Given the description of an element on the screen output the (x, y) to click on. 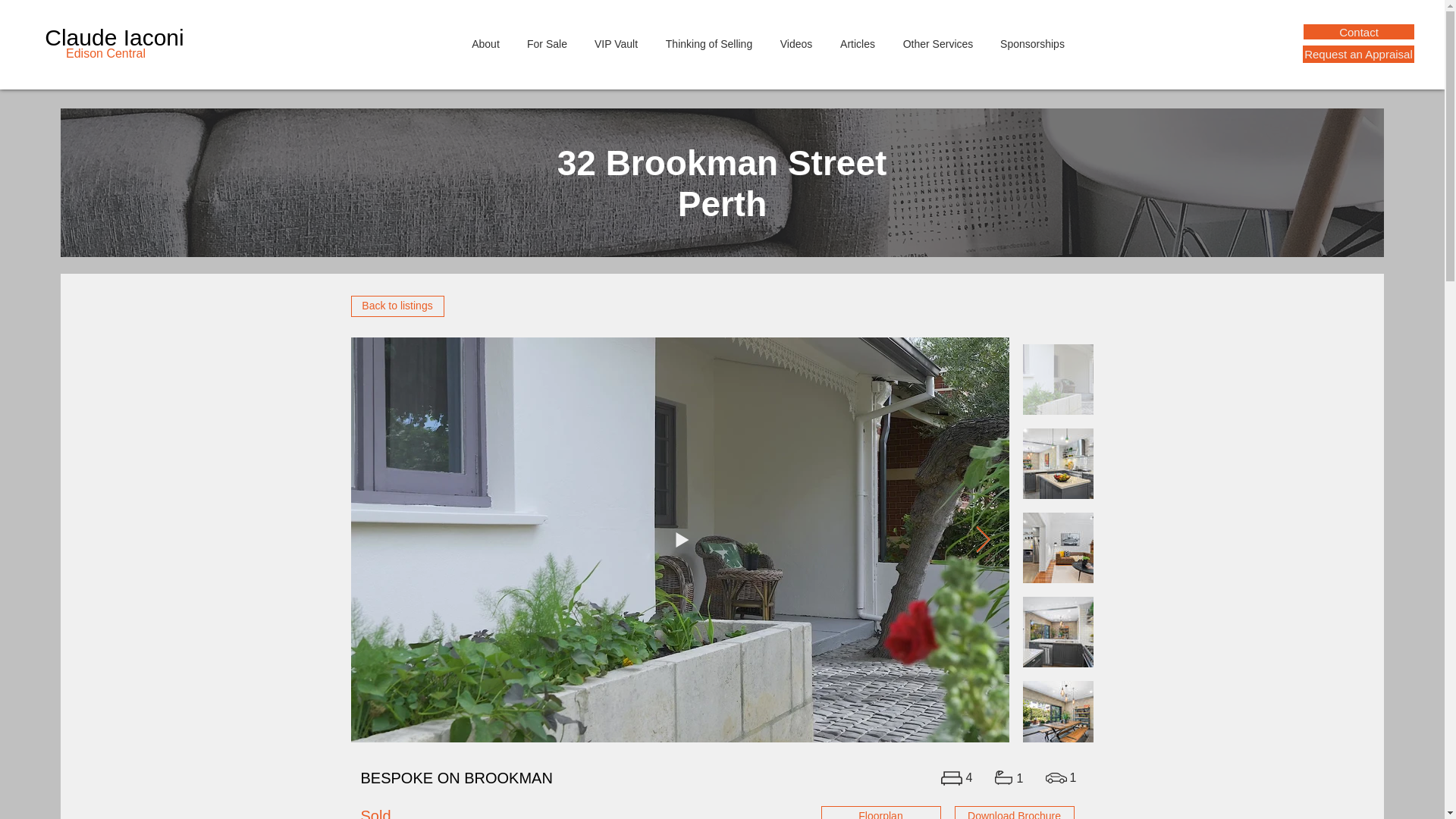
Download Brochure (1013, 812)
Floorplan (880, 812)
Videos (795, 43)
For Sale (546, 43)
Request an Appraisal (1358, 54)
Contact (1358, 31)
Back to listings (397, 305)
Claude Iaconi (114, 37)
About (485, 43)
Articles (858, 43)
